Given the description of an element on the screen output the (x, y) to click on. 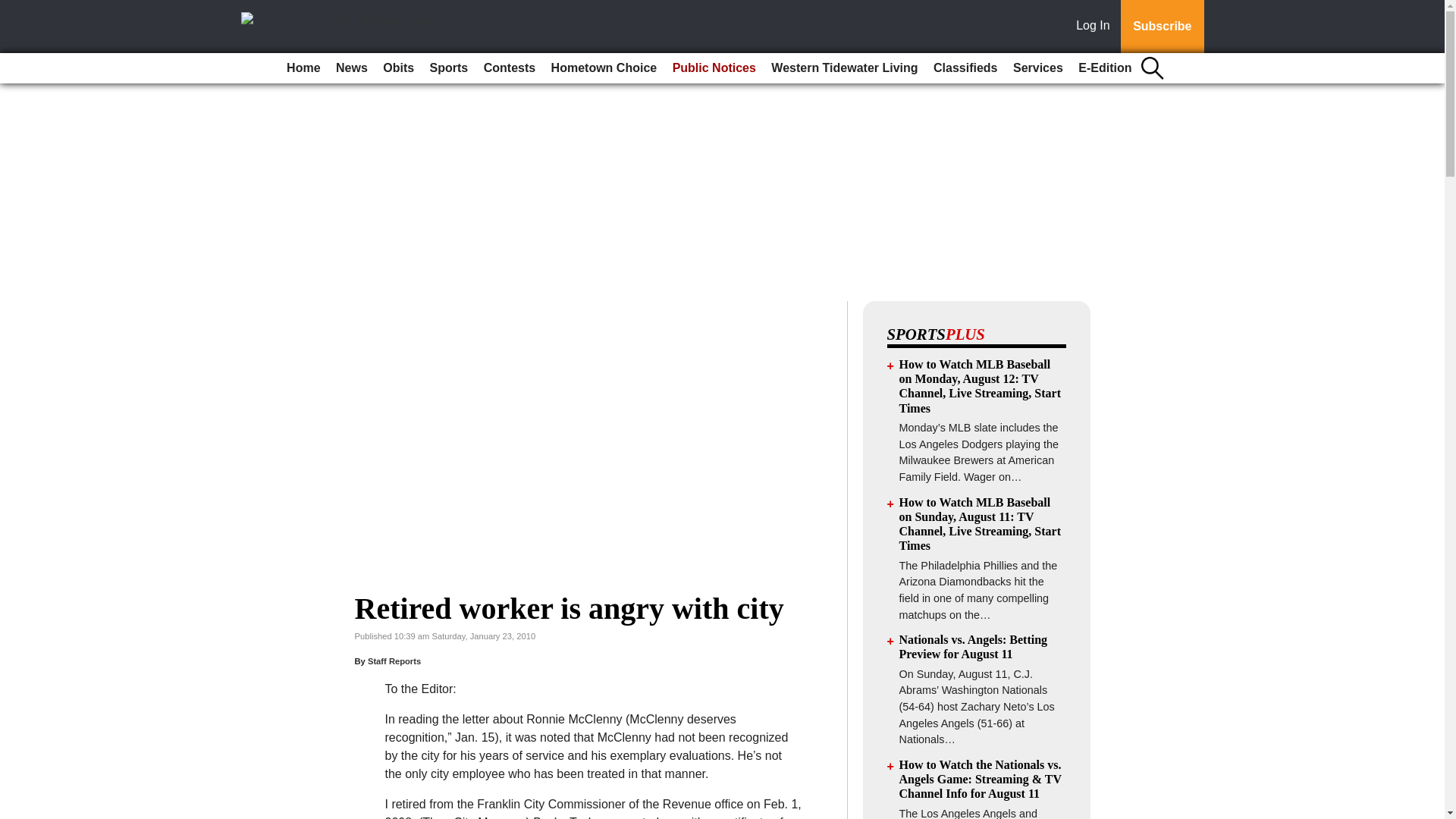
E-Edition (1104, 68)
Classifieds (965, 68)
Sports (448, 68)
Contests (509, 68)
Hometown Choice (603, 68)
Go (13, 9)
Services (1037, 68)
Western Tidewater Living (844, 68)
Staff Reports (394, 660)
Obits (398, 68)
